Given the description of an element on the screen output the (x, y) to click on. 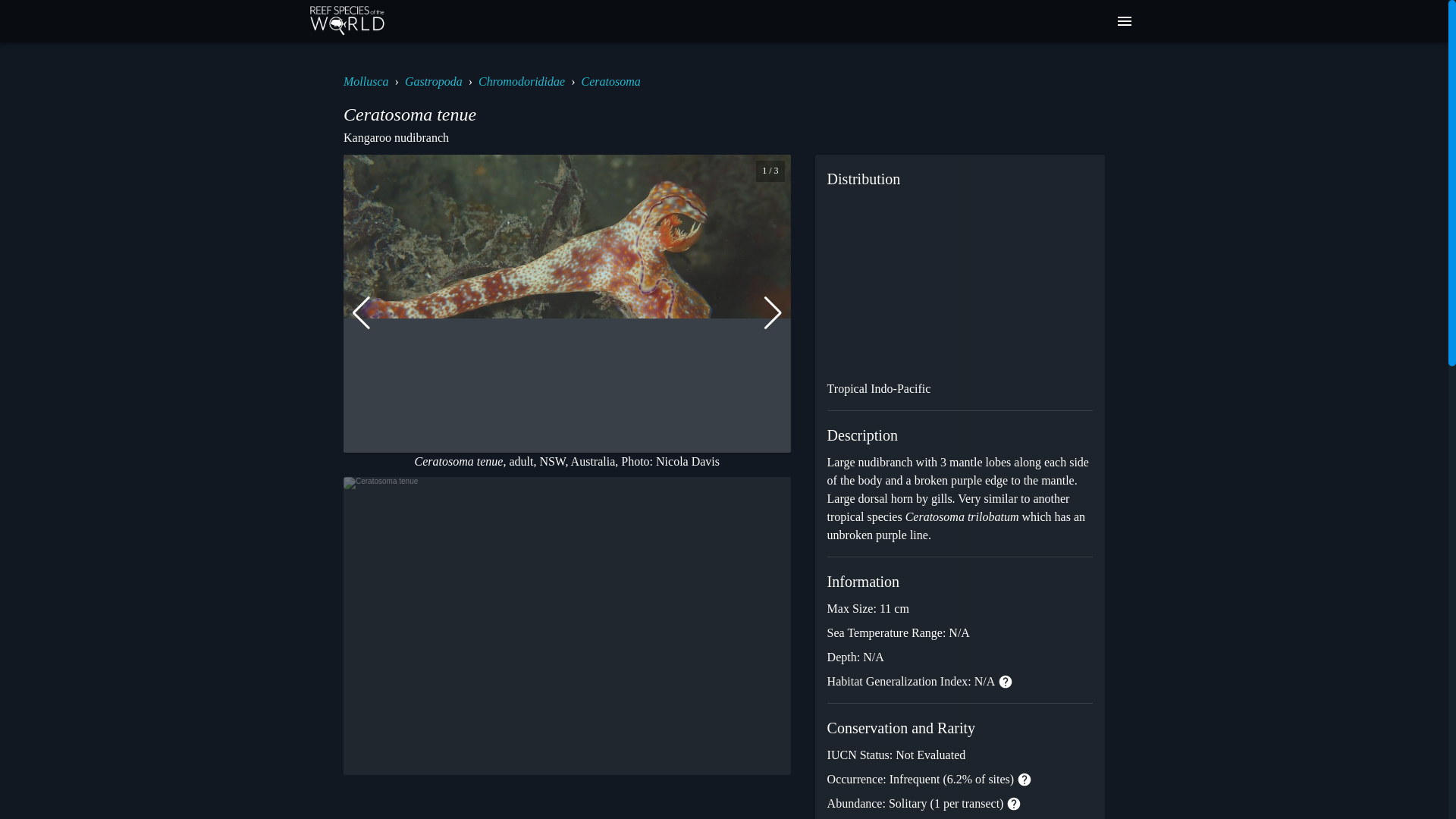
Gastropoda (433, 81)
Ceratosoma (610, 81)
Chromodorididae (521, 81)
Mollusca (365, 81)
